Given the description of an element on the screen output the (x, y) to click on. 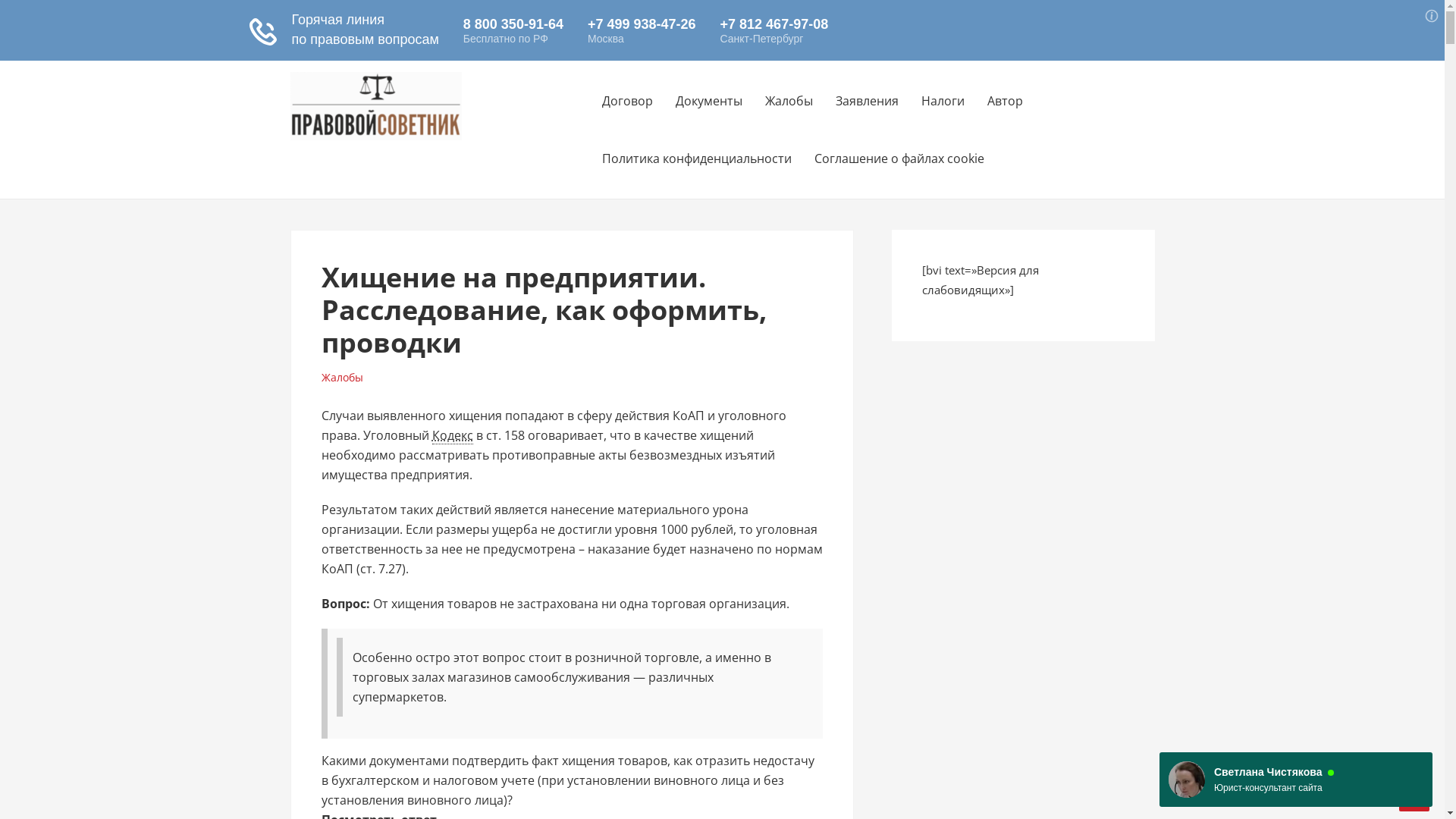
Skip to navigation Element type: text (289, 60)
